Given the description of an element on the screen output the (x, y) to click on. 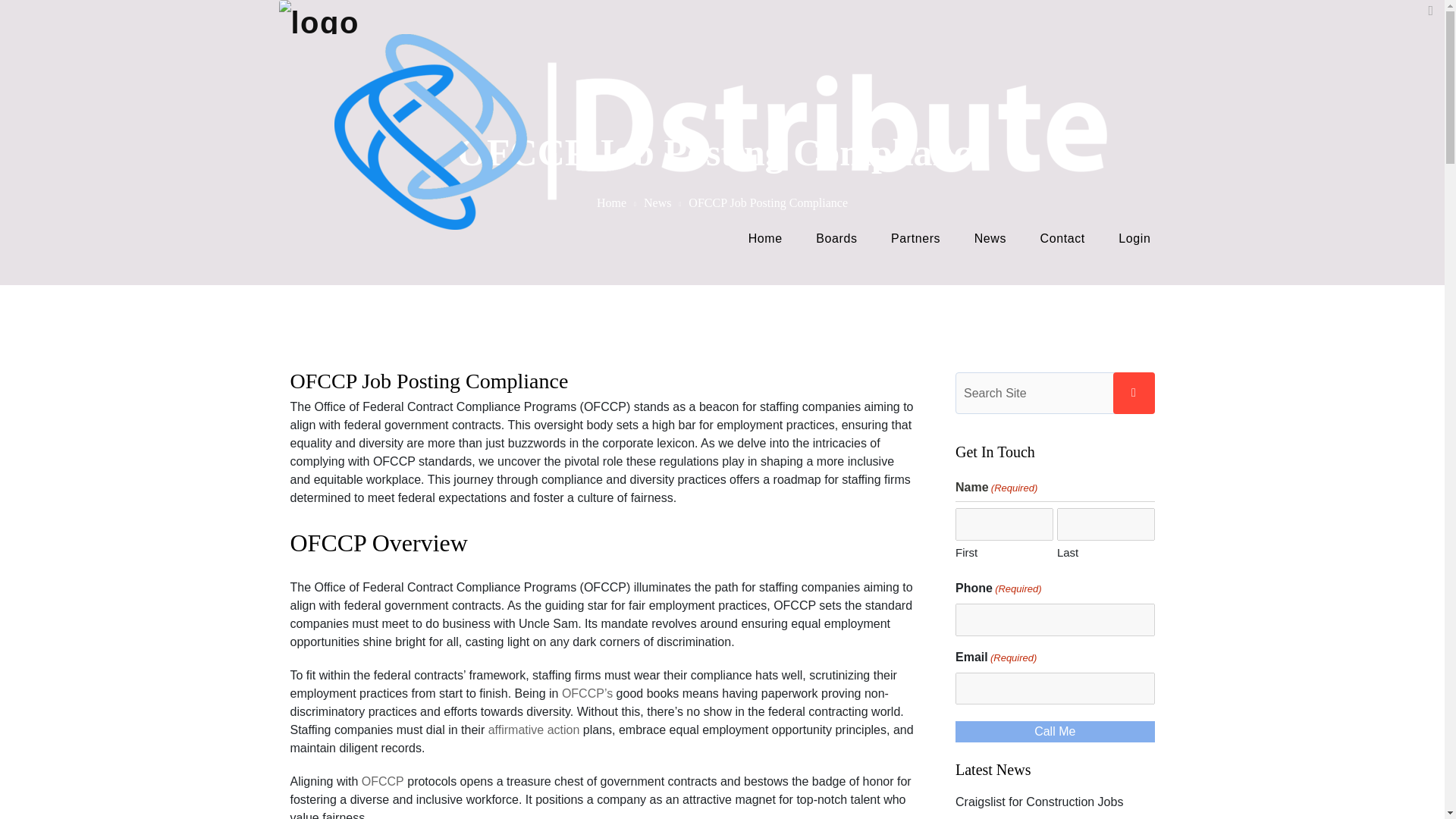
Subscribe (1123, 785)
News (657, 202)
OFCCP (382, 782)
Call Me (1054, 731)
affirmative action (533, 730)
Home (611, 202)
OFCCP Job Posting Compliance (428, 381)
